Given the description of an element on the screen output the (x, y) to click on. 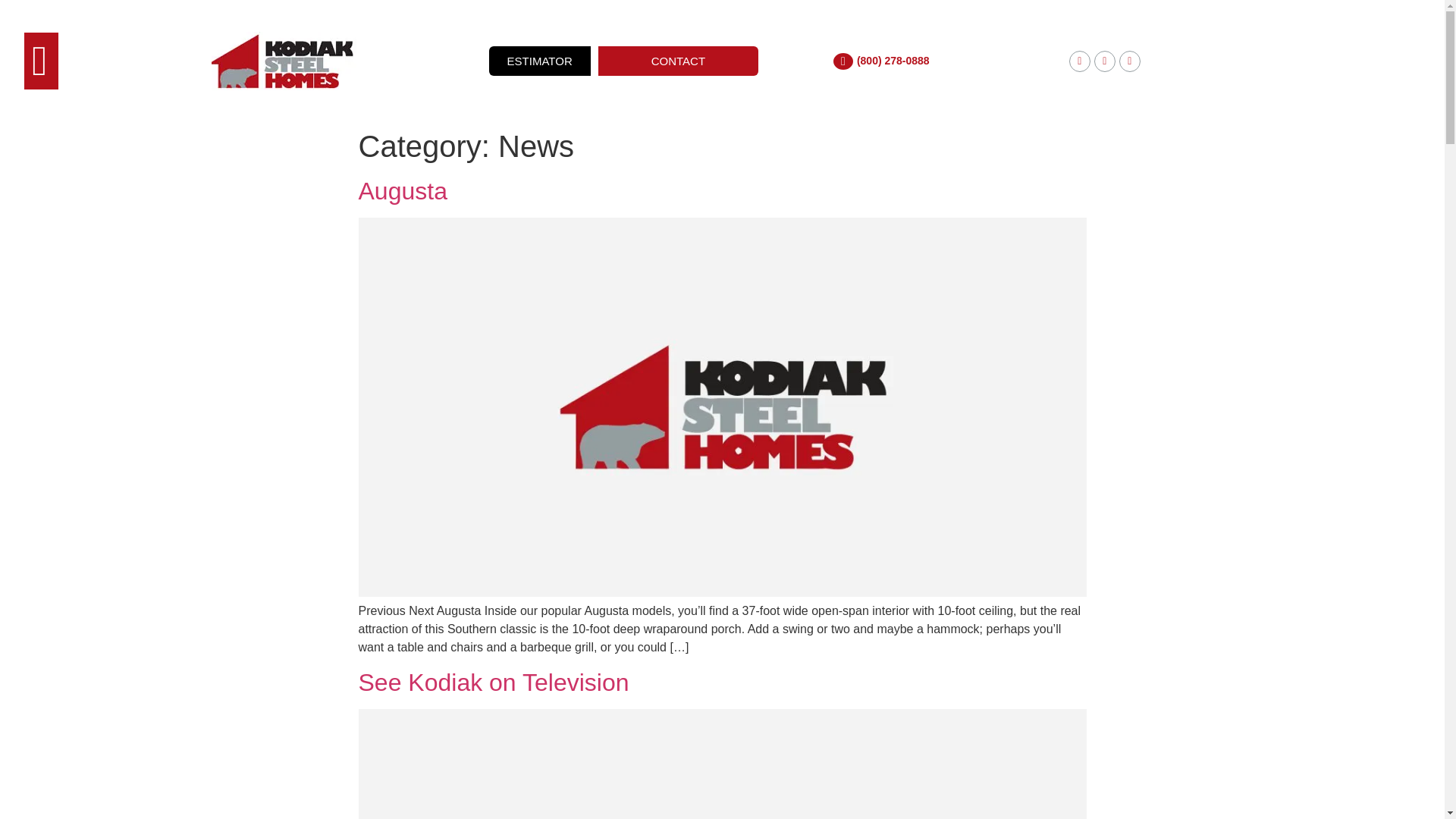
CONTACT (678, 60)
See Kodiak on Television (493, 682)
ESTIMATOR (540, 60)
Augusta (402, 190)
